Given the description of an element on the screen output the (x, y) to click on. 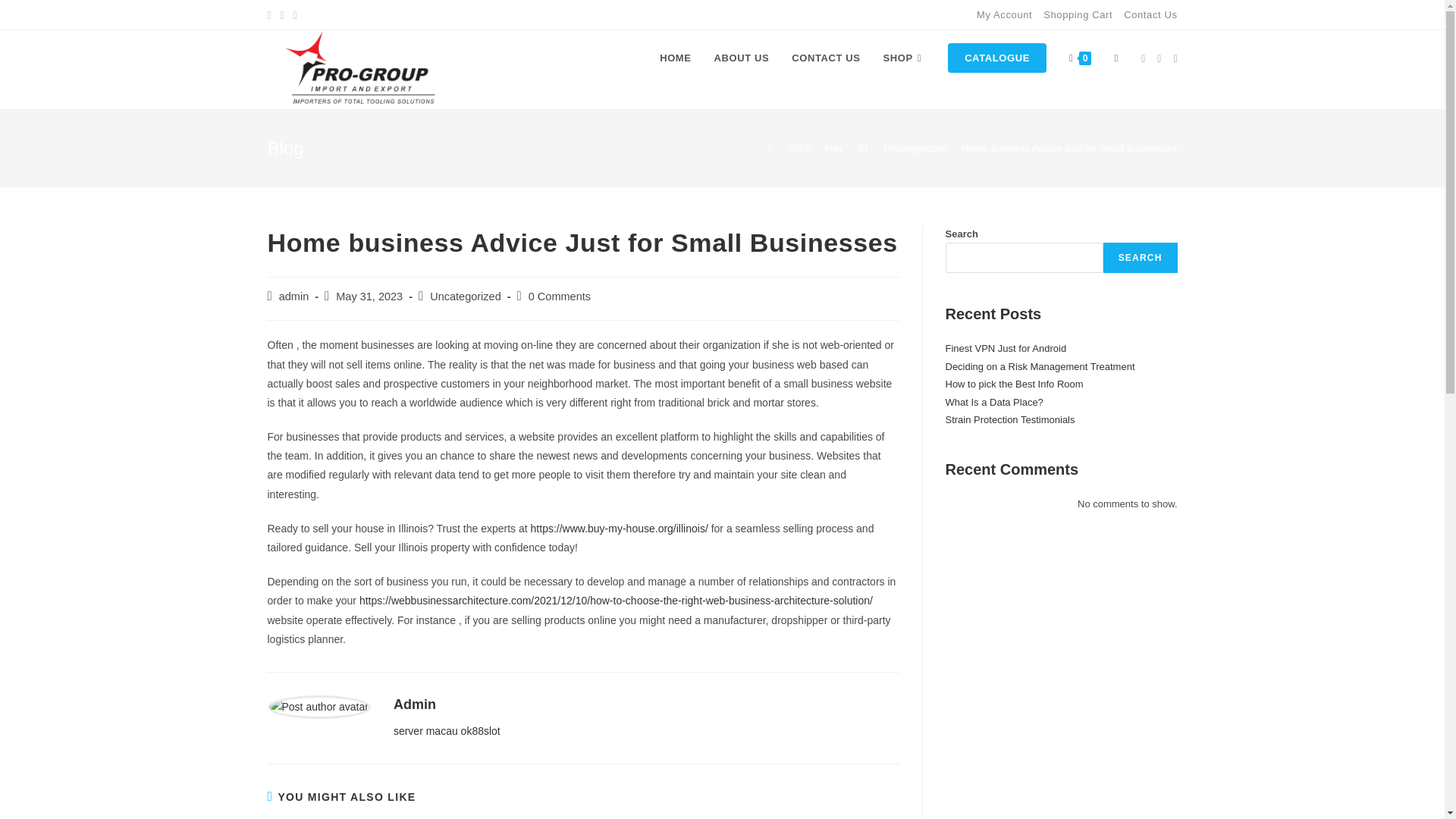
Contact Us (1150, 14)
Posts by admin (293, 296)
Shopping Cart (1077, 14)
CONTACT US (825, 58)
SHOP (904, 58)
Visit author page (317, 705)
My Account (1004, 14)
ABOUT US (741, 58)
Visit author page (414, 703)
HOME (674, 58)
